Given the description of an element on the screen output the (x, y) to click on. 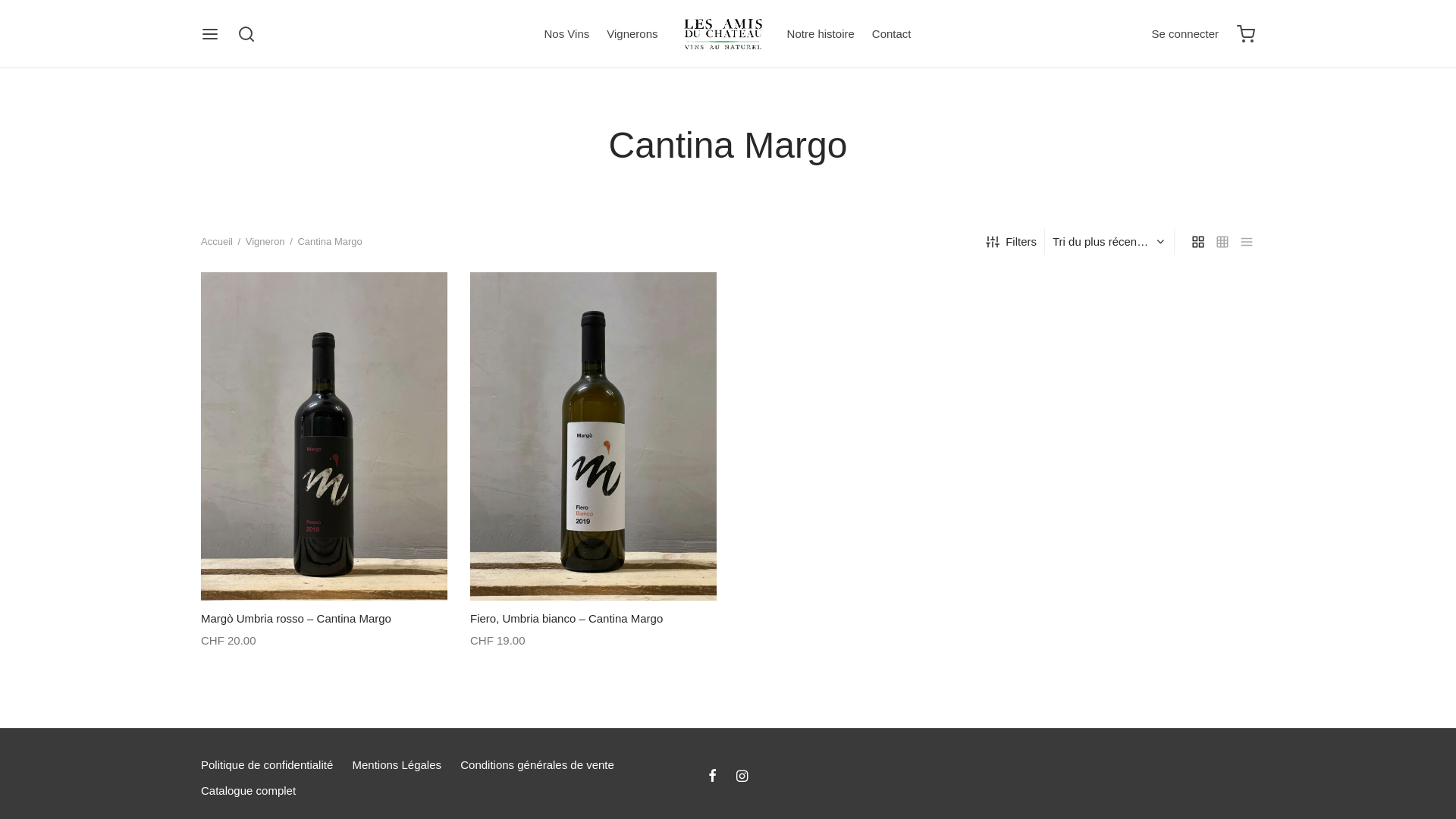
Notre histoire Element type: text (820, 34)
Cart Element type: hover (1245, 34)
Filters Element type: text (1010, 241)
facebook Element type: hover (712, 776)
Se connecter Element type: text (1184, 33)
Catalogue complet Element type: text (247, 791)
Vignerons Element type: text (631, 34)
Accueil Element type: text (216, 241)
Recherche Element type: text (30, 18)
instagram Element type: hover (741, 776)
Contact Element type: text (891, 34)
Nos Vins Element type: text (566, 34)
Vigneron Element type: text (265, 241)
